Given the description of an element on the screen output the (x, y) to click on. 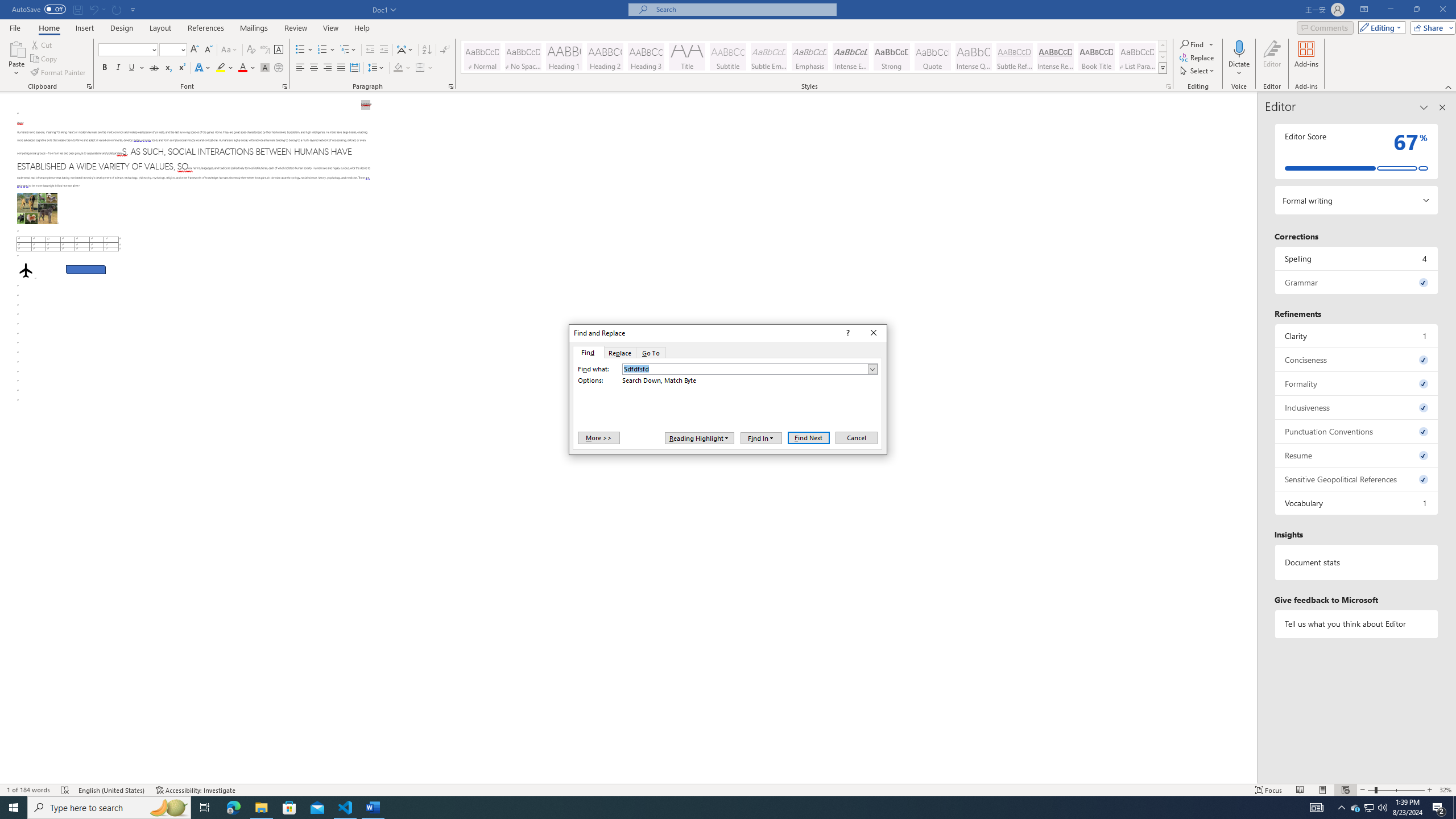
Grammar, 0 issues. Press space or enter to review items. (1356, 282)
Font Color Red (241, 67)
Select (1197, 69)
Title (686, 56)
Replace (619, 352)
Formality, 0 issues. Press space or enter to review items. (1356, 383)
Microsoft search (742, 9)
